Given the description of an element on the screen output the (x, y) to click on. 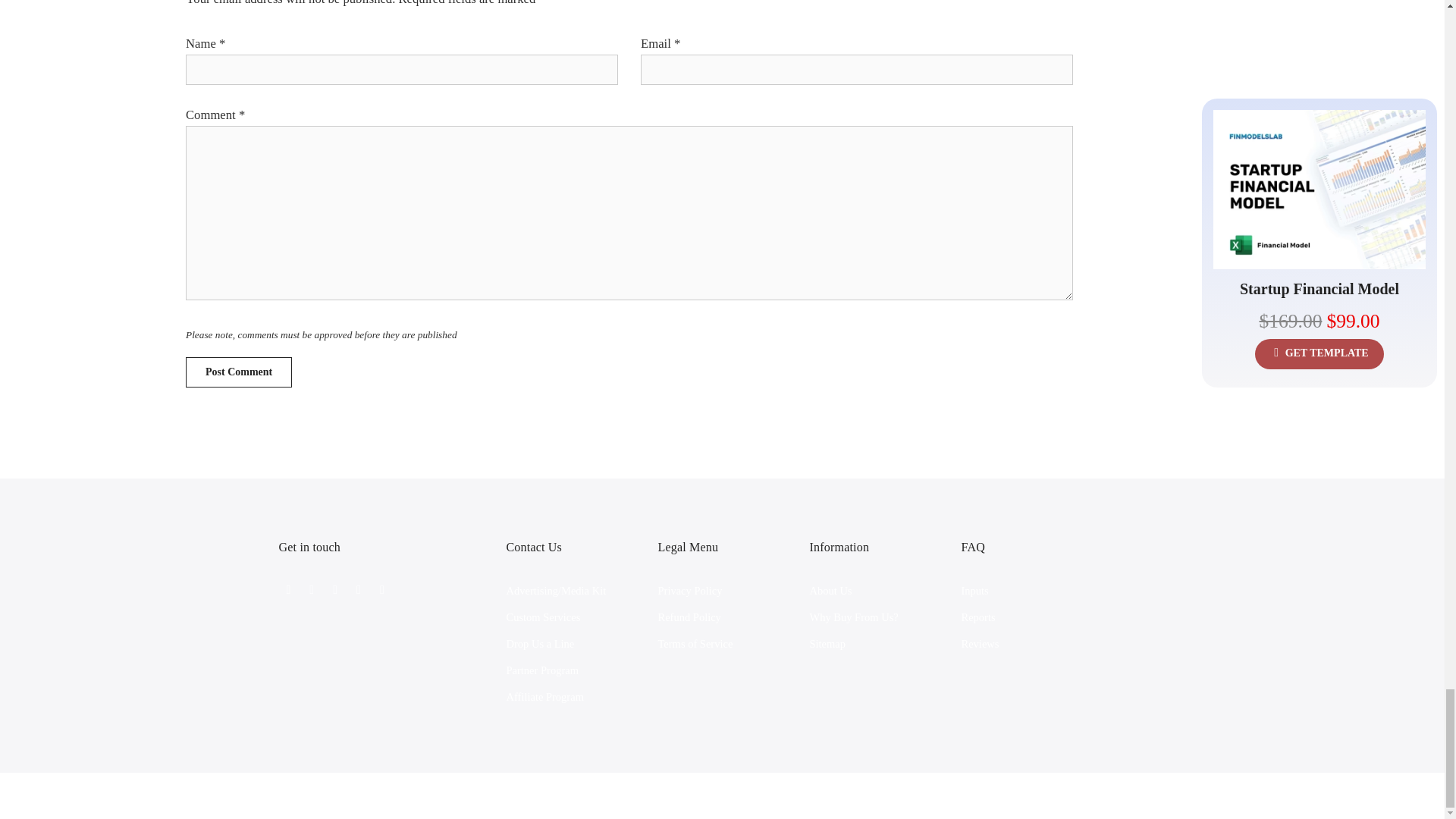
Affiliate Program (544, 696)
Drop Us a Line (540, 644)
Terms of Service (695, 644)
Post Comment (239, 372)
Privacy Policy (690, 590)
Partner Program (542, 670)
Custom Services (543, 616)
Post Comment (239, 372)
Refund Policy (689, 616)
